Given the description of an element on the screen output the (x, y) to click on. 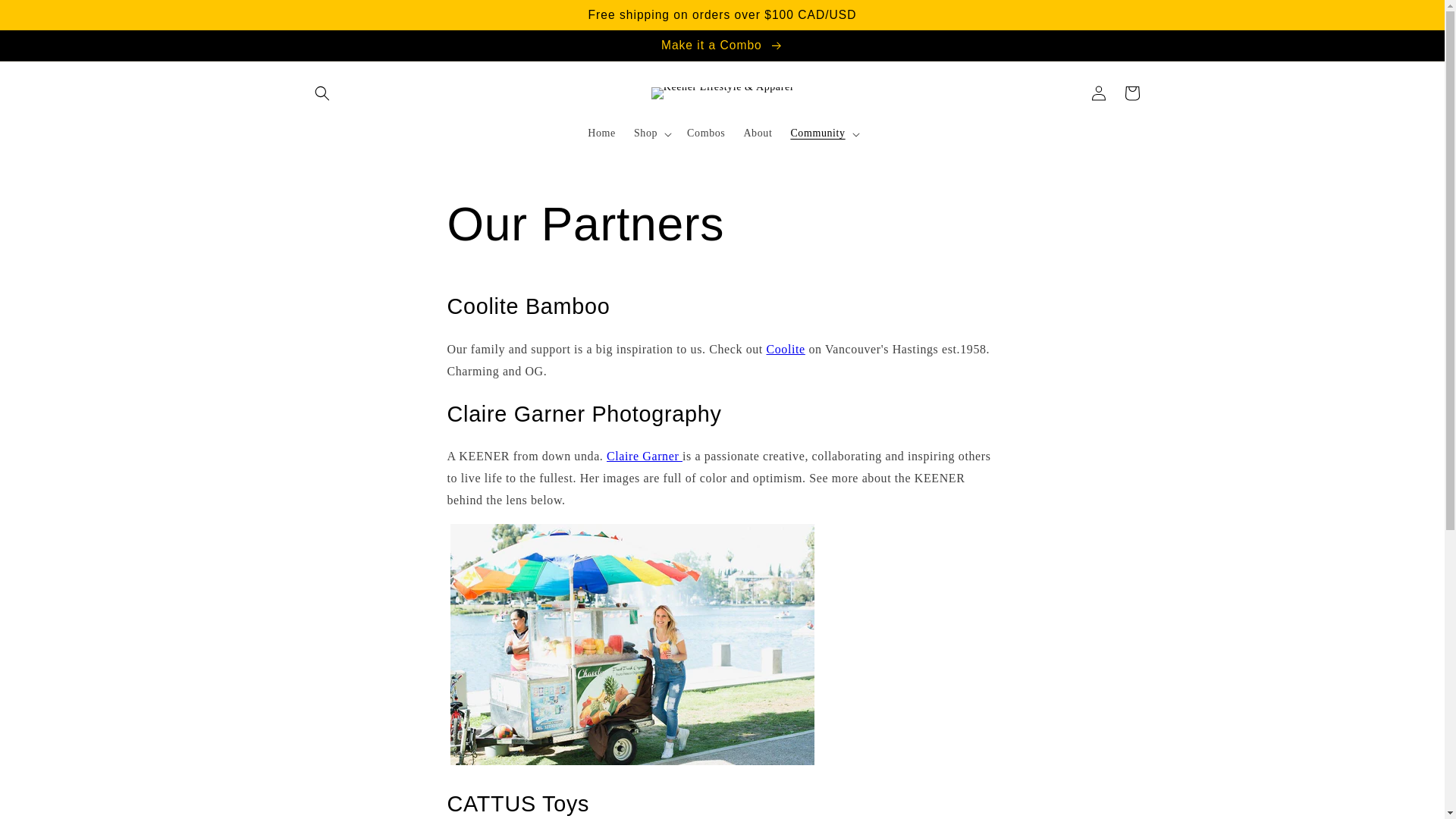
Claire Garner (644, 455)
Cart (1131, 92)
Combos (705, 133)
Skip to content (46, 18)
Home (601, 133)
About (756, 133)
Coolite (785, 349)
Log in (1098, 92)
